Given the description of an element on the screen output the (x, y) to click on. 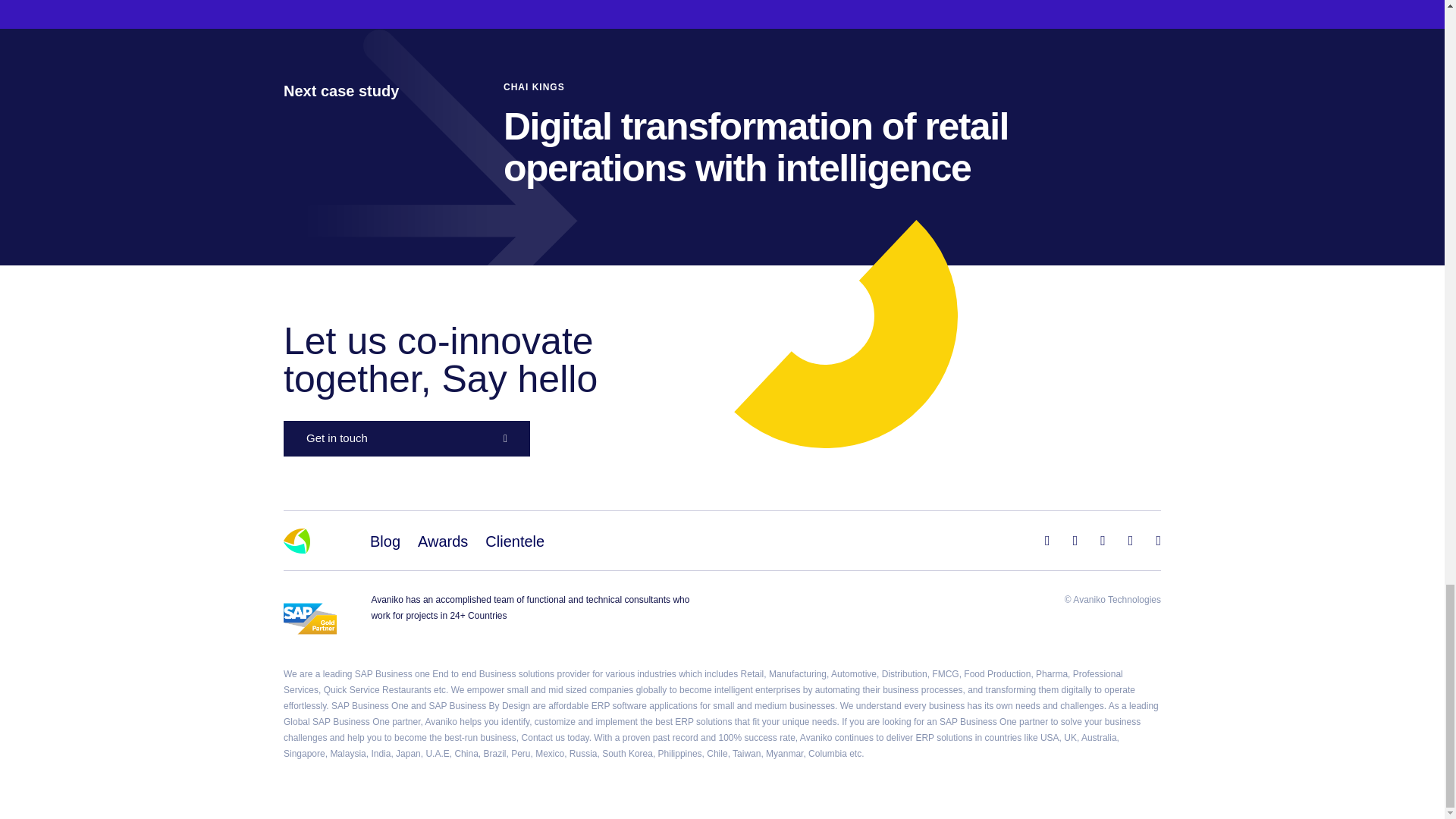
semicircle-y (845, 333)
Blog (384, 541)
Clientele (514, 541)
Awards (442, 541)
Get in touch (406, 438)
